Given the description of an element on the screen output the (x, y) to click on. 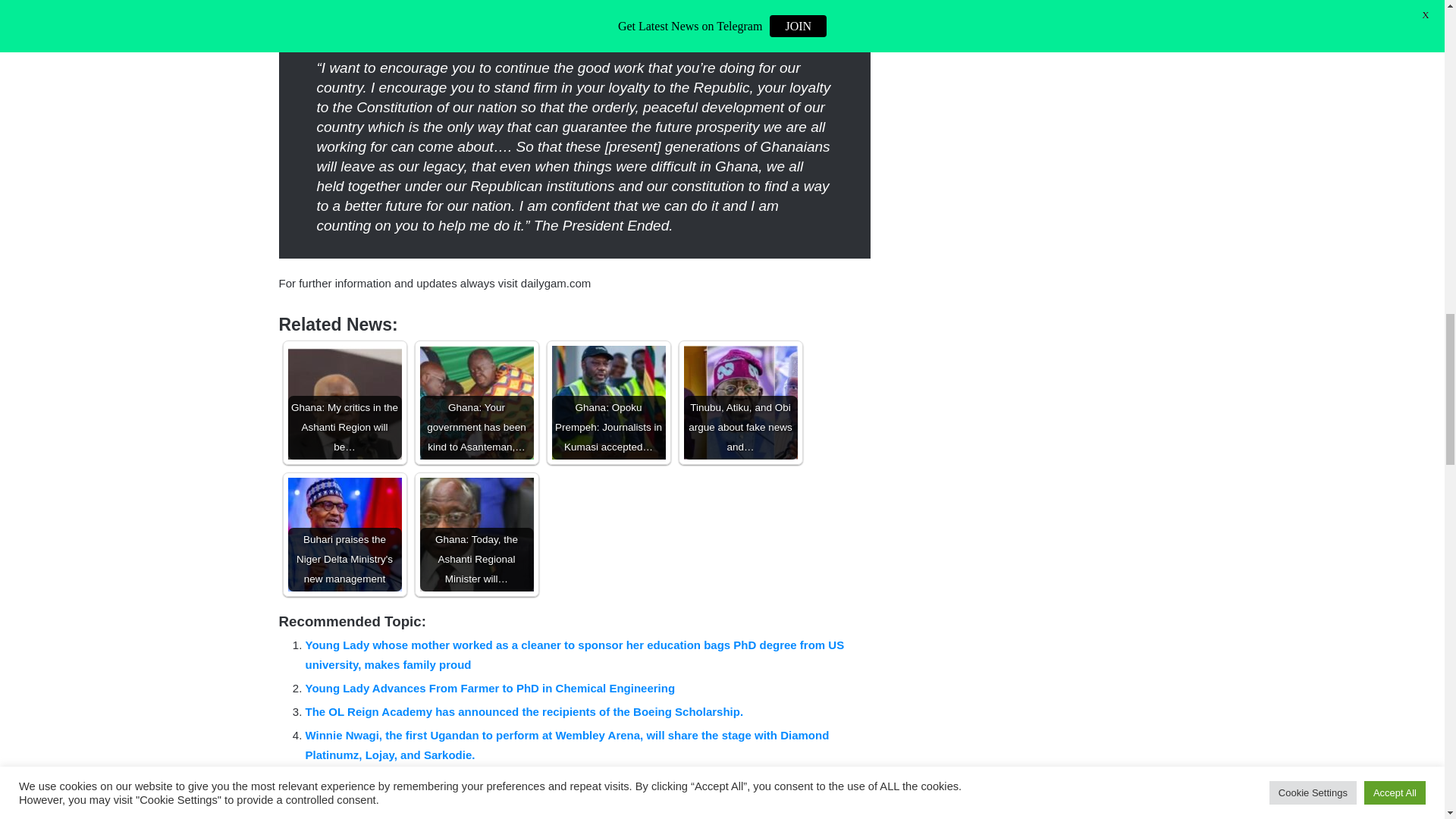
Buhari praises the Niger Delta Ministry's new management (344, 534)
Buhari praises the Niger Delta Ministry's new management (344, 534)
